Given the description of an element on the screen output the (x, y) to click on. 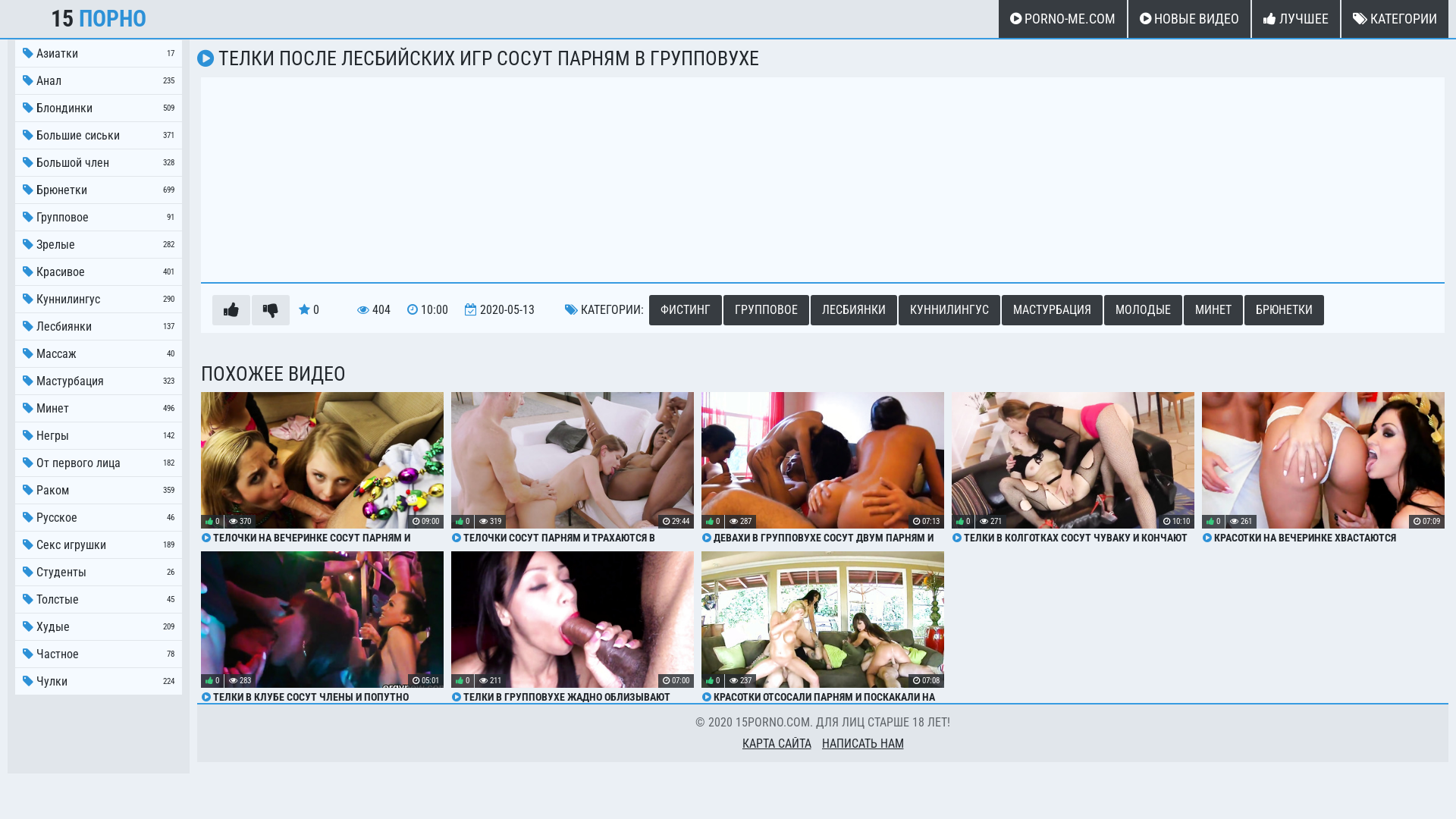
PORNO-ME.COM Element type: text (1062, 18)
Dislike Element type: hover (270, 309)
Like! Element type: hover (231, 309)
